Given the description of an element on the screen output the (x, y) to click on. 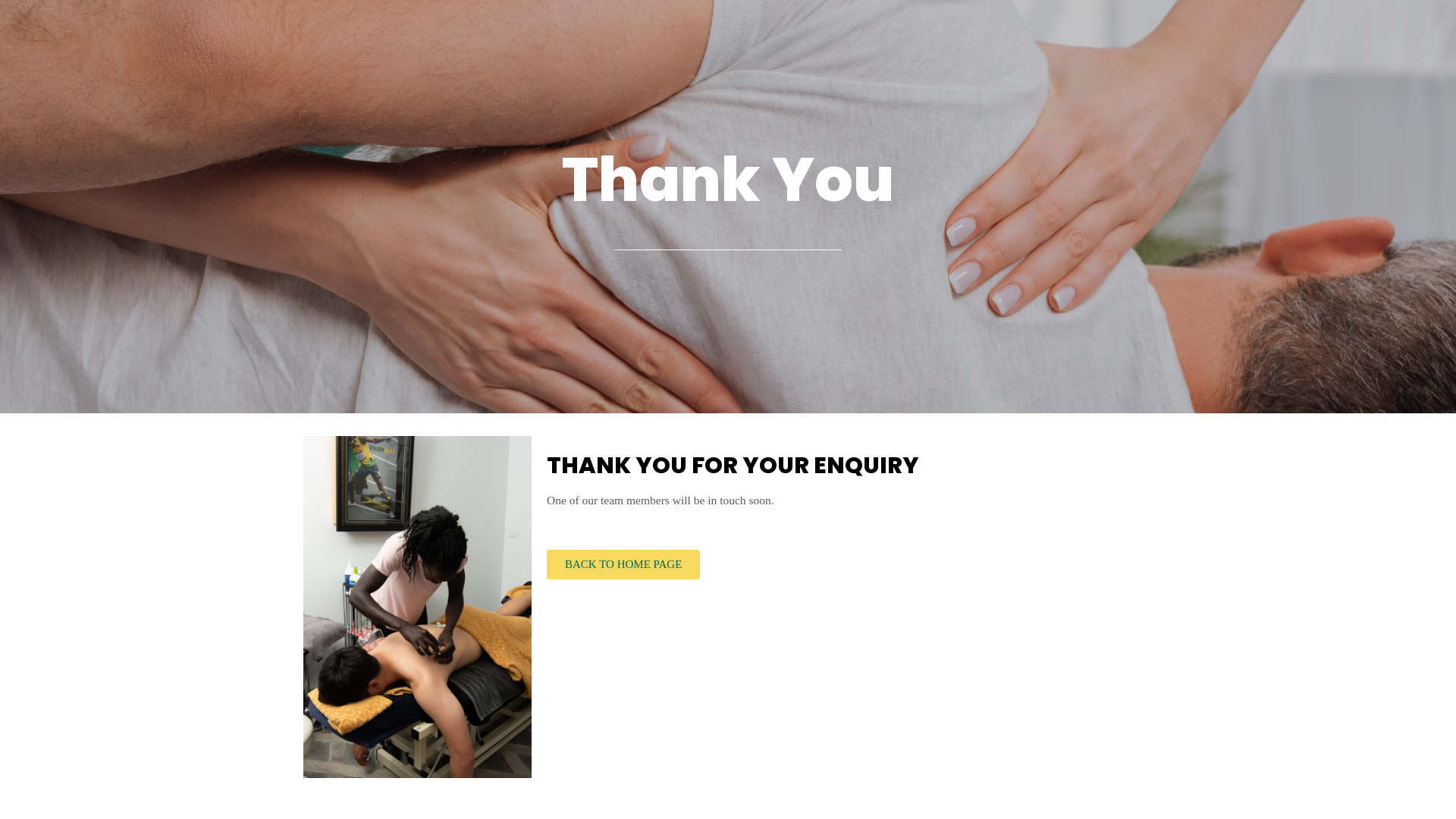
BACK TO HOME PAGE Element type: text (622, 564)
